Given the description of an element on the screen output the (x, y) to click on. 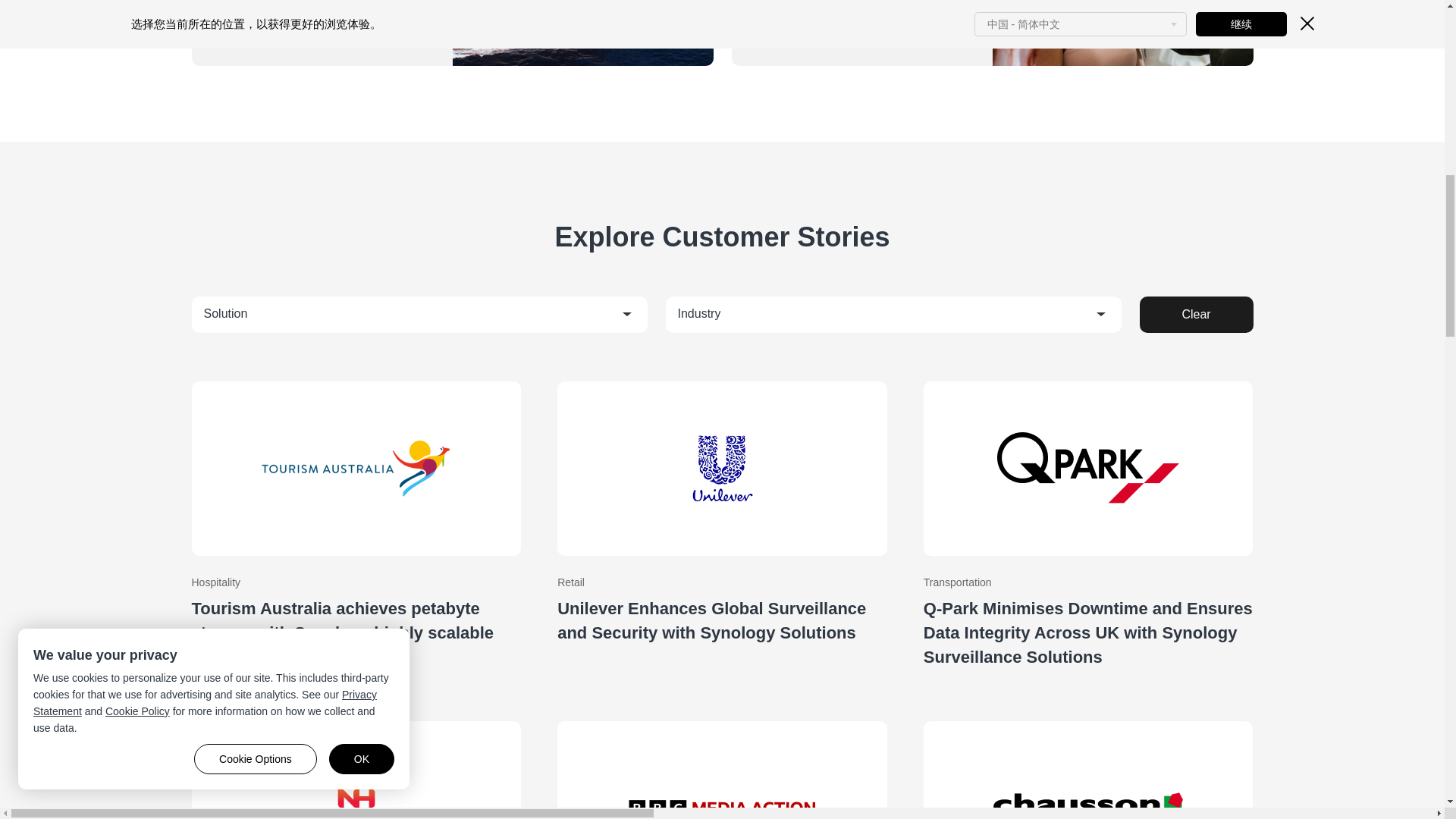
ANZ Tourism Australia (355, 525)
TH ThaiNipponFoods (355, 760)
Chausson Materiaux (1088, 760)
Unilever (721, 525)
Q Park (1088, 525)
BBC Media Action (721, 760)
